Given the description of an element on the screen output the (x, y) to click on. 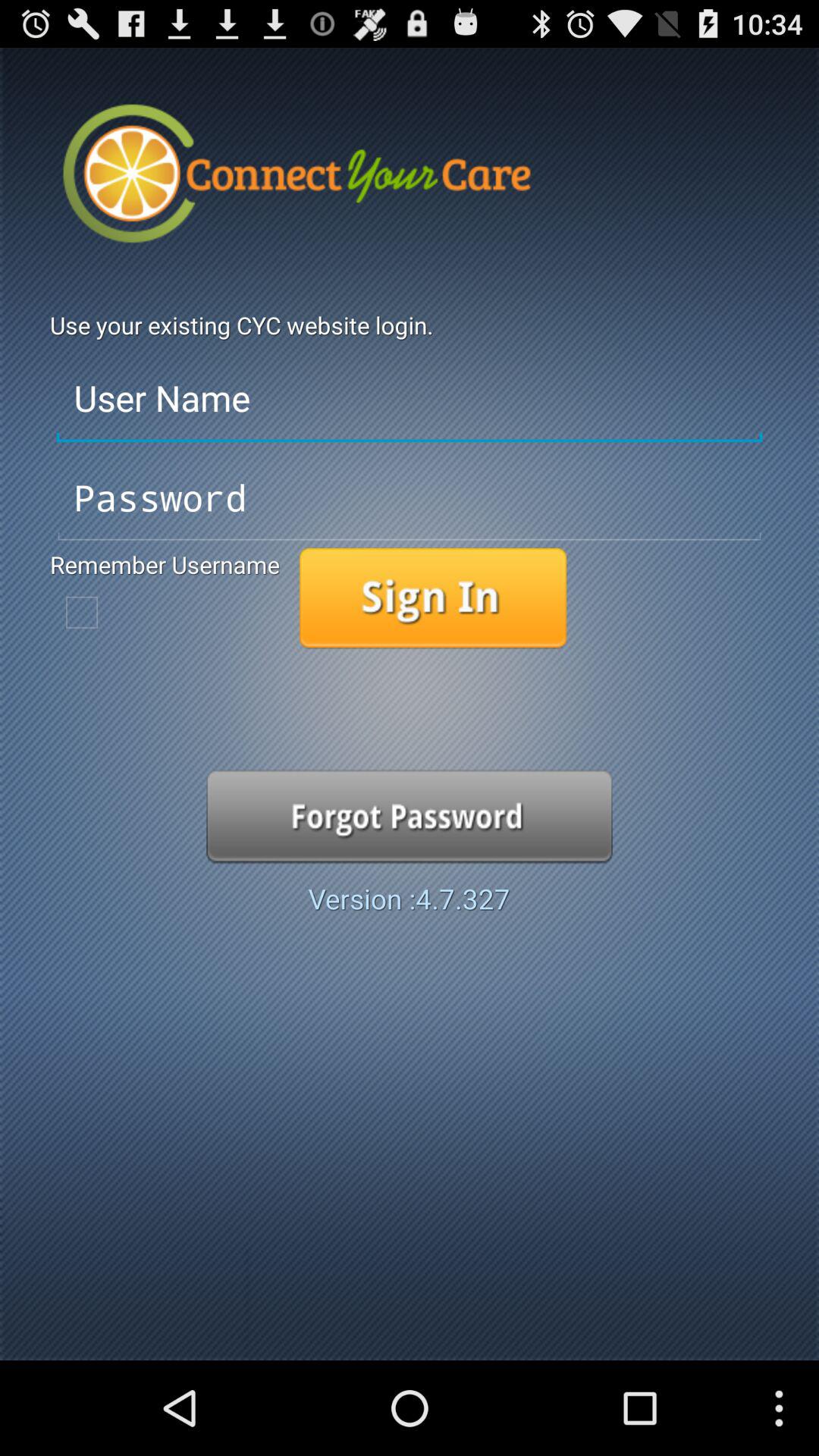
click forget password (409, 815)
